Given the description of an element on the screen output the (x, y) to click on. 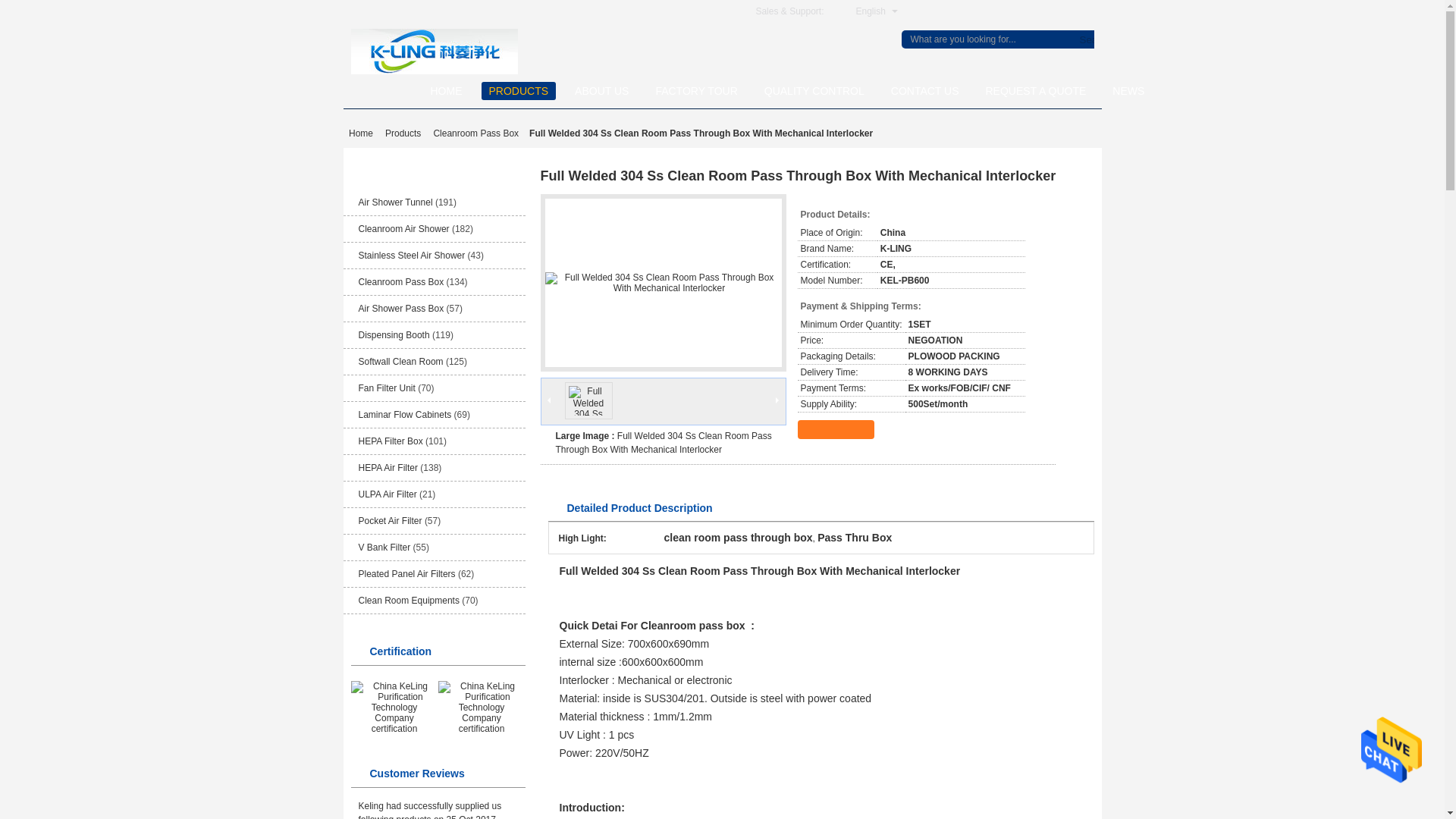
Air Shower Pass Box (401, 308)
QUALITY CONTROL (814, 90)
Cleanroom Air Shower (403, 228)
REQUEST A QUOTE (1036, 90)
Products (402, 132)
PRODUCTS (518, 90)
Stainless Steel Air Shower (411, 255)
CONTACT US (924, 90)
KeLing Purification Technology Company (433, 50)
NEWS (1128, 90)
